Given the description of an element on the screen output the (x, y) to click on. 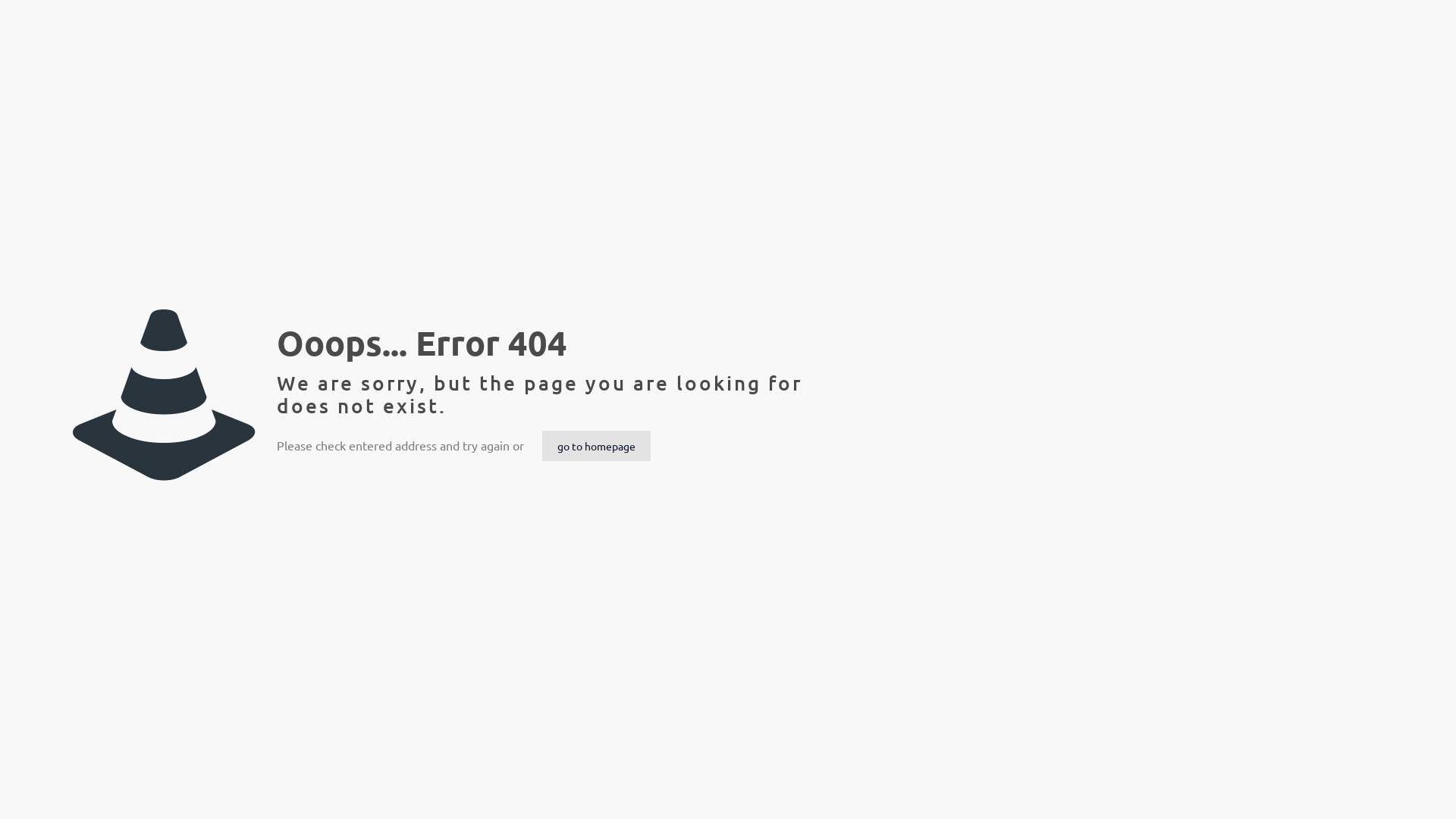
go to homepage Element type: text (596, 445)
